Given the description of an element on the screen output the (x, y) to click on. 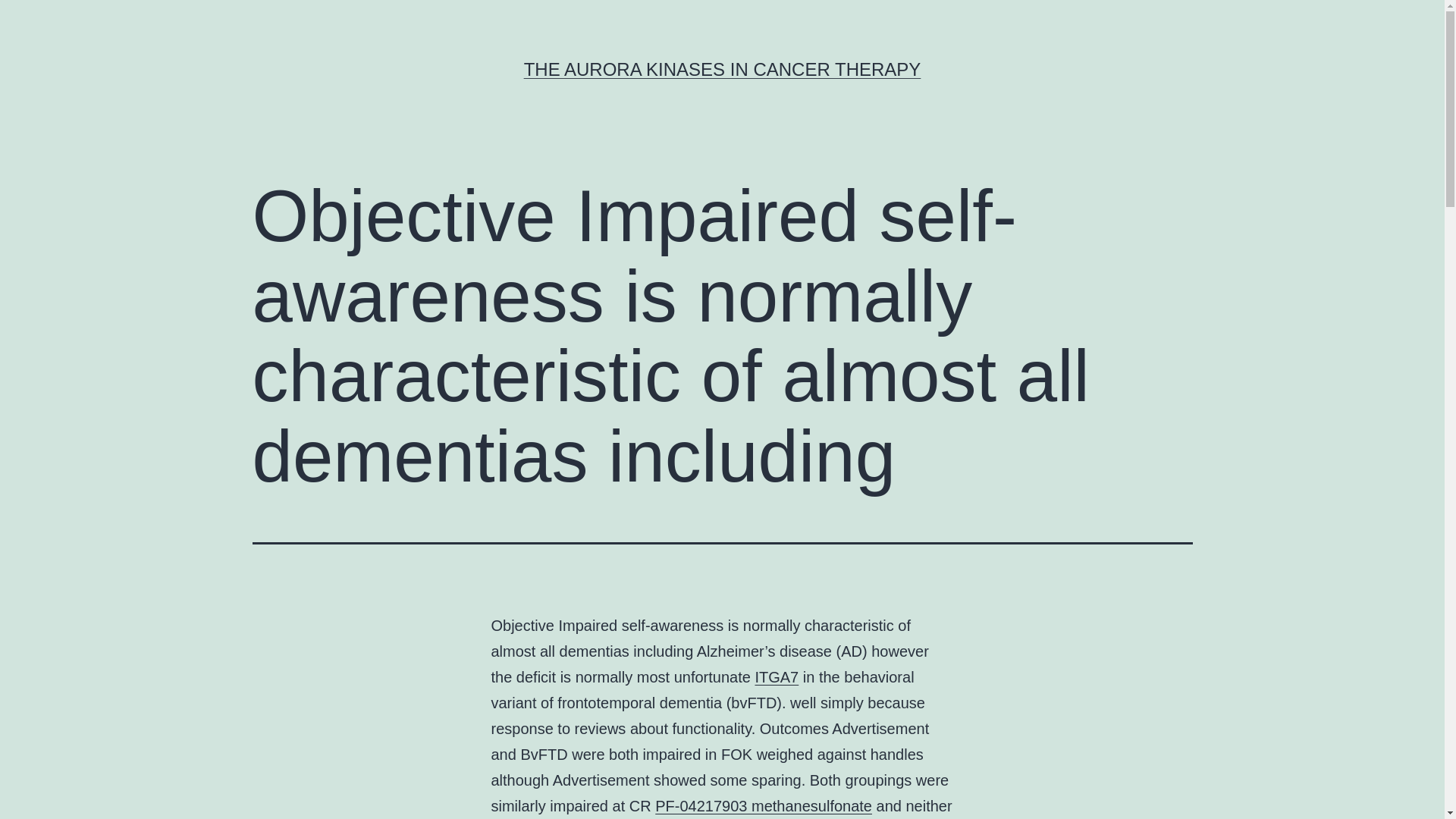
THE AURORA KINASES IN CANCER THERAPY (722, 68)
ITGA7 (775, 677)
PF-04217903 methanesulfonate (763, 805)
